Given the description of an element on the screen output the (x, y) to click on. 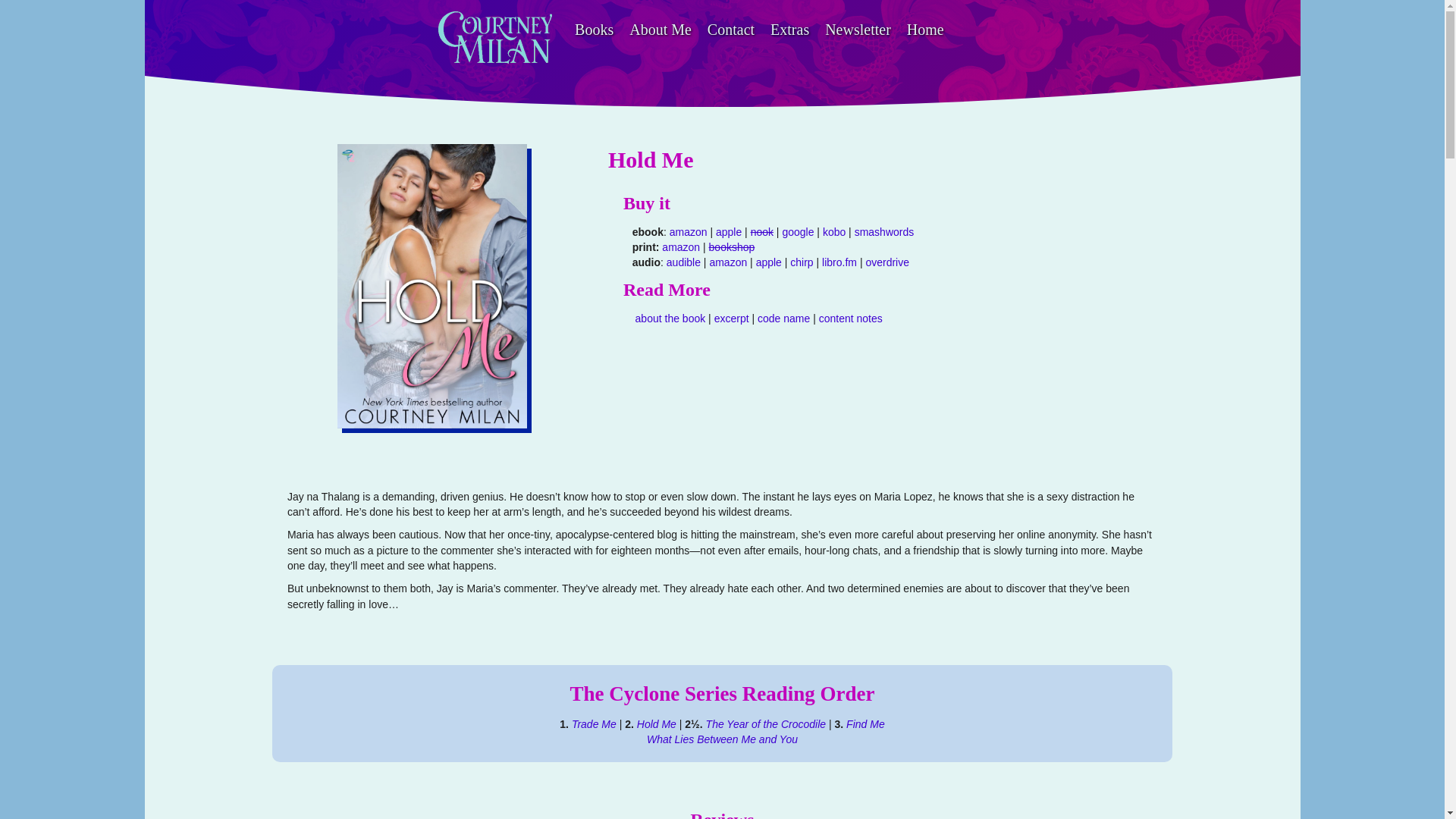
Newsletter (857, 33)
amazon (727, 262)
nook (762, 232)
smashwords (884, 232)
amazon (688, 232)
Extras (789, 33)
audible (683, 262)
kobo (833, 232)
Books (594, 33)
bookshop (732, 246)
